Given the description of an element on the screen output the (x, y) to click on. 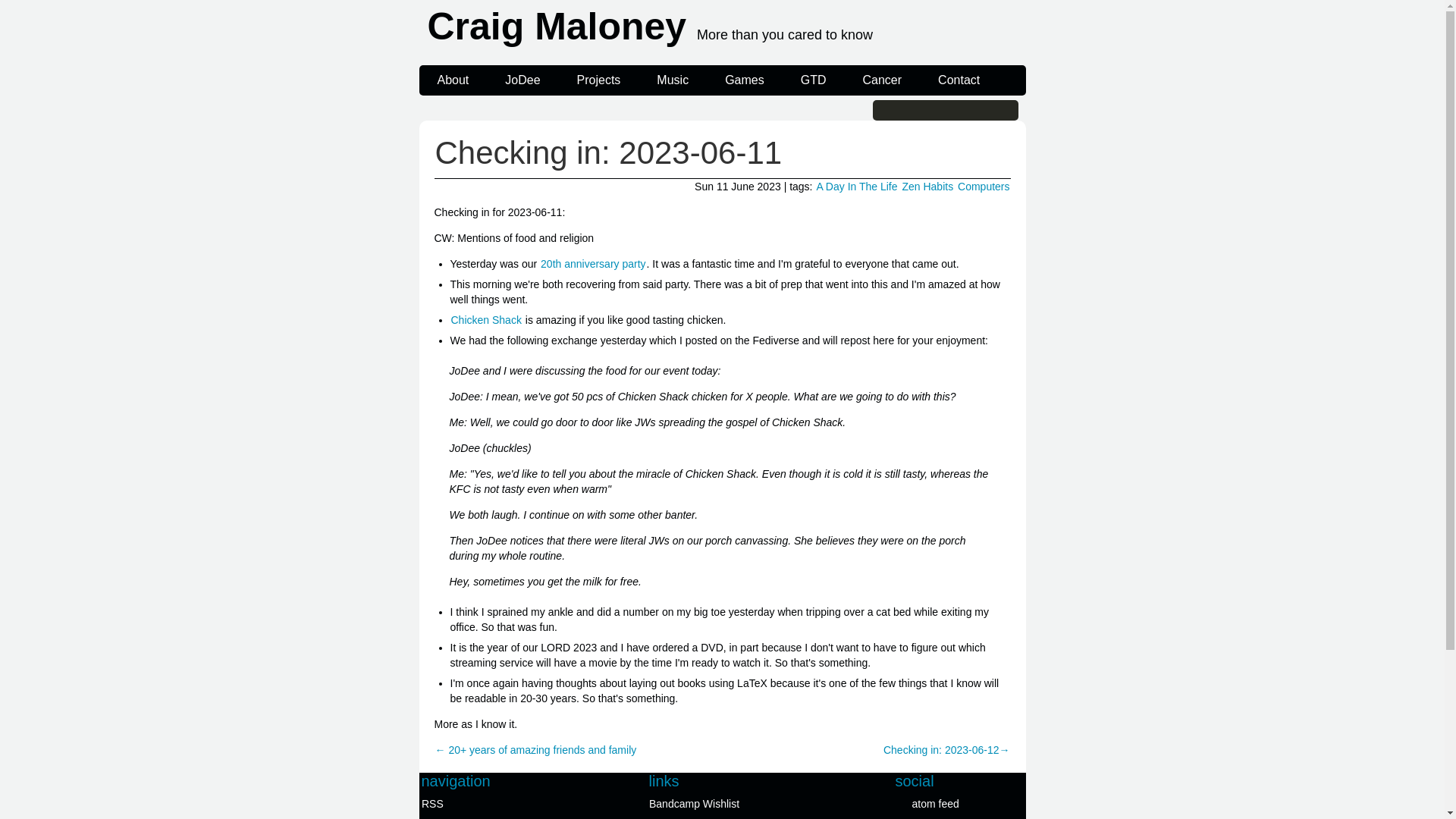
A Day In The Life (856, 186)
atom feed (959, 803)
Cancer (882, 80)
Archives (489, 816)
Permalink to Checking in: 2023-06-11 (608, 152)
Chicken Shack (485, 319)
Contact (958, 80)
RSS (489, 803)
Zen Habits (927, 186)
About (452, 80)
